Given the description of an element on the screen output the (x, y) to click on. 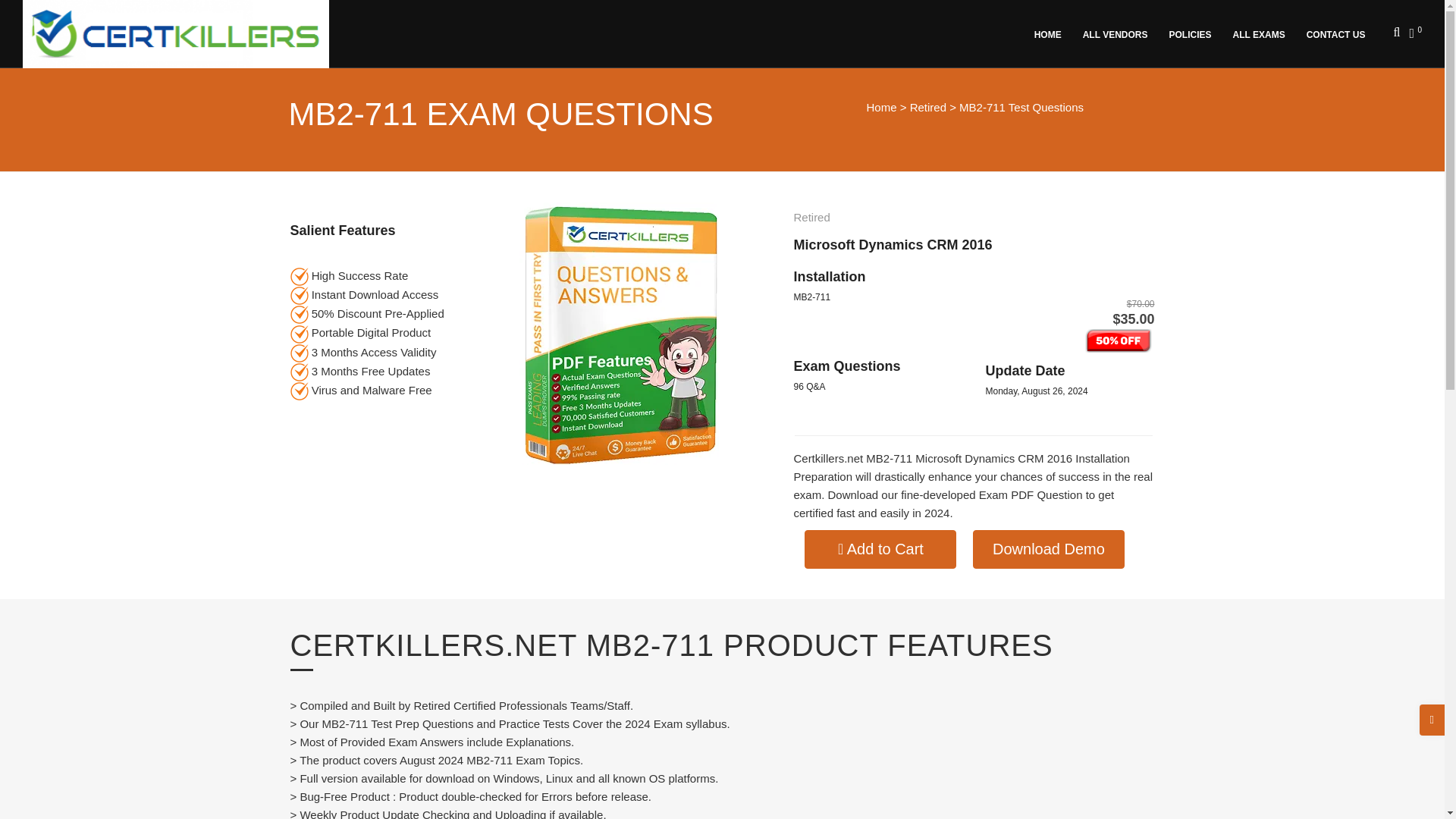
CONTACT US (1337, 33)
Update Date (1024, 370)
ALL VENDORS (1117, 33)
Microsoft Dynamics CRM 2016 Installation (892, 260)
POLICIES (1192, 33)
Add to Cart (880, 548)
ALL EXAMS (1261, 33)
Retired (928, 106)
Download Demo (1048, 548)
Home (881, 106)
